Given the description of an element on the screen output the (x, y) to click on. 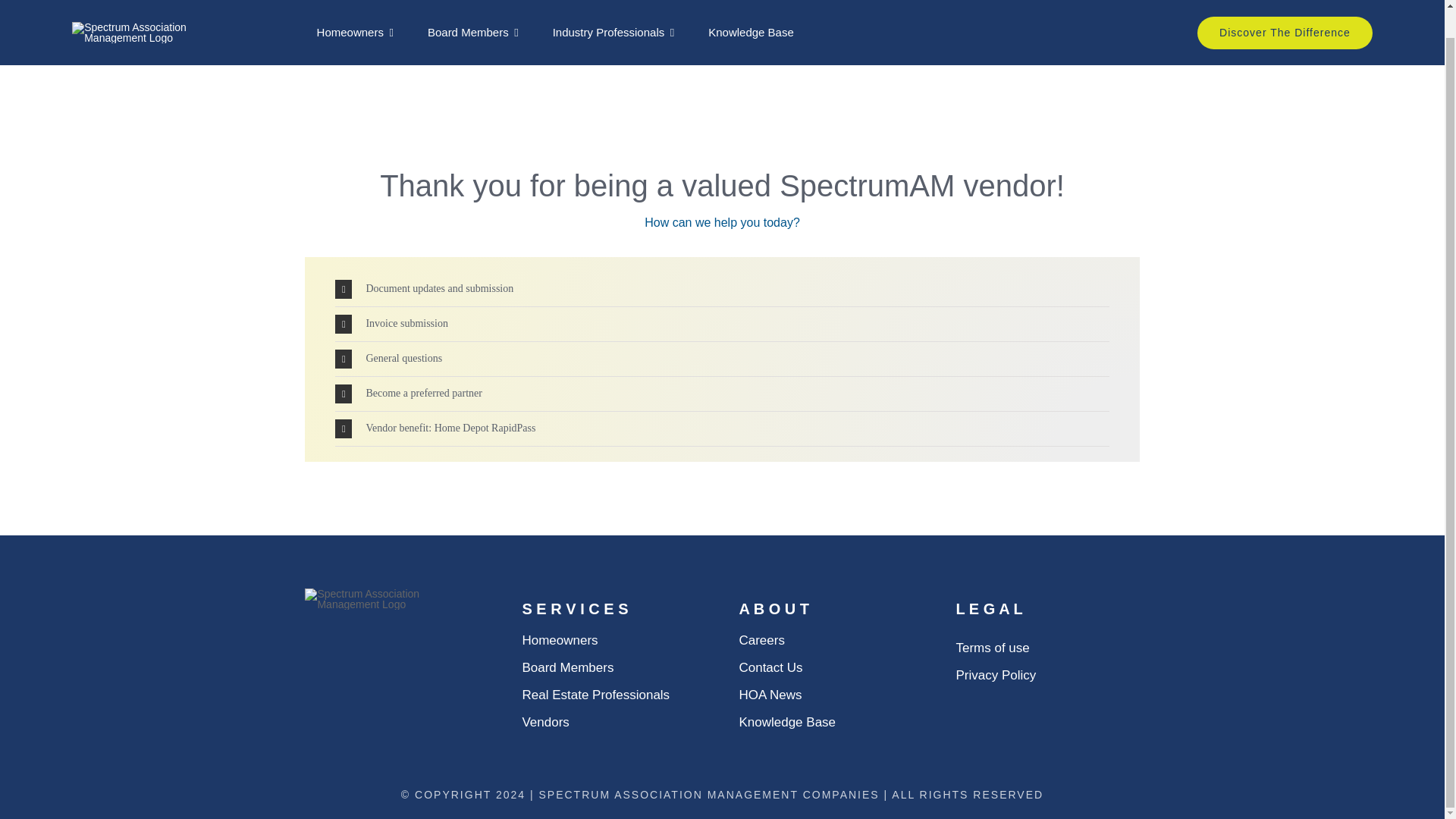
Industry Professionals (614, 7)
Board Members (473, 7)
Knowledge Base (750, 7)
Homeowners (355, 7)
Discover The Difference (1284, 10)
